Given the description of an element on the screen output the (x, y) to click on. 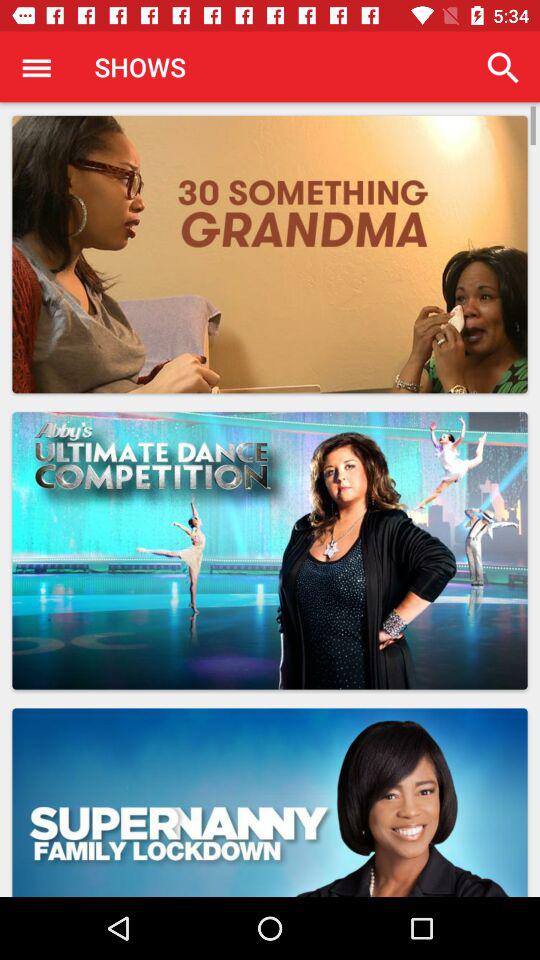
launch app to the right of shows item (503, 67)
